Given the description of an element on the screen output the (x, y) to click on. 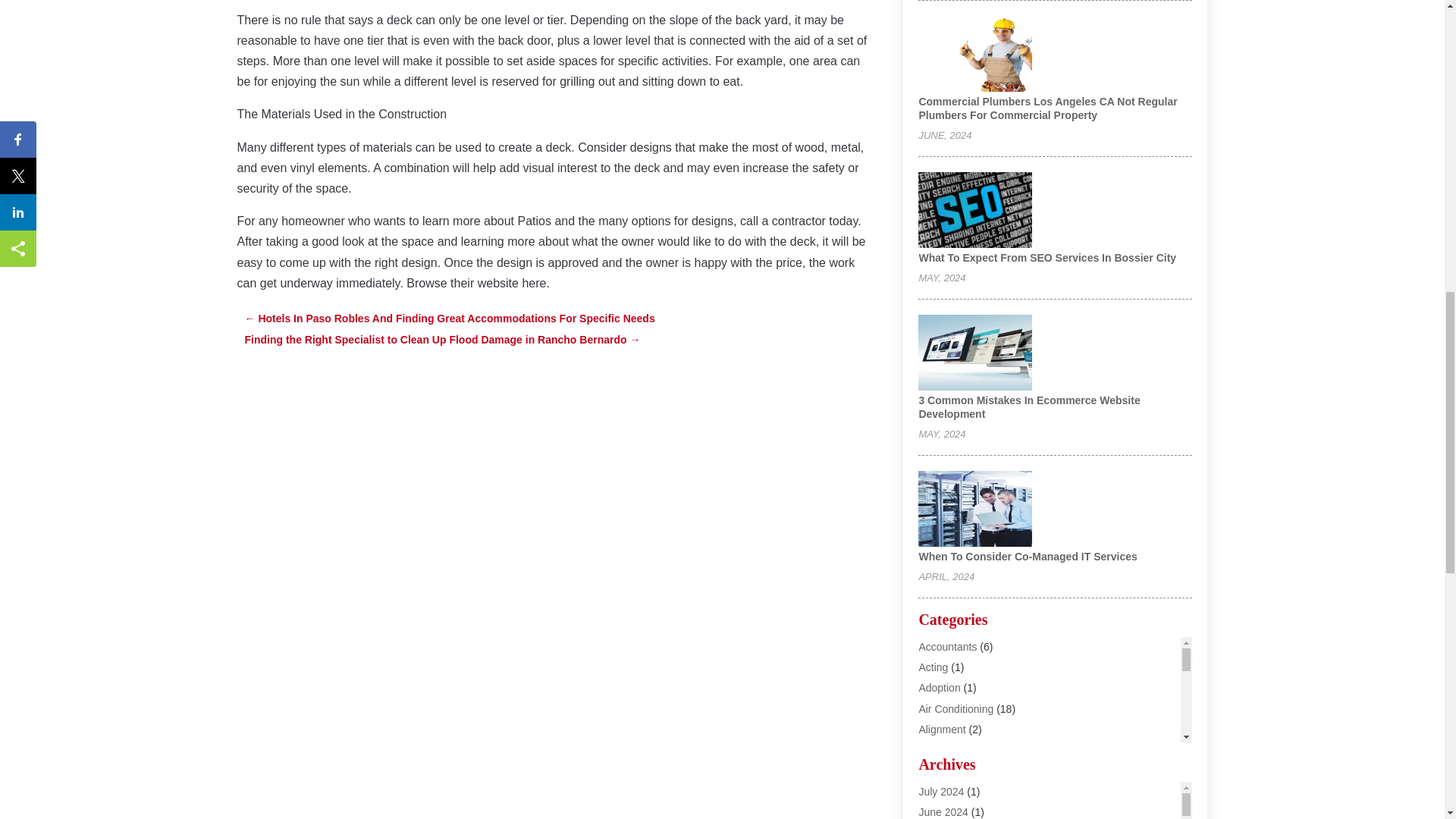
Allergy-Doctor (951, 749)
Bail Bonds (943, 811)
What To Expect From SEO Services In Bossier City (1047, 257)
Alignment (941, 729)
When To Consider Co-Managed IT Services (1027, 556)
Accountants (947, 646)
Automotive (944, 790)
Acting (932, 666)
Adoption (938, 687)
Appliances (944, 770)
3 Common Mistakes In Ecommerce Website Development (1029, 406)
Air Conditioning (955, 708)
